Given the description of an element on the screen output the (x, y) to click on. 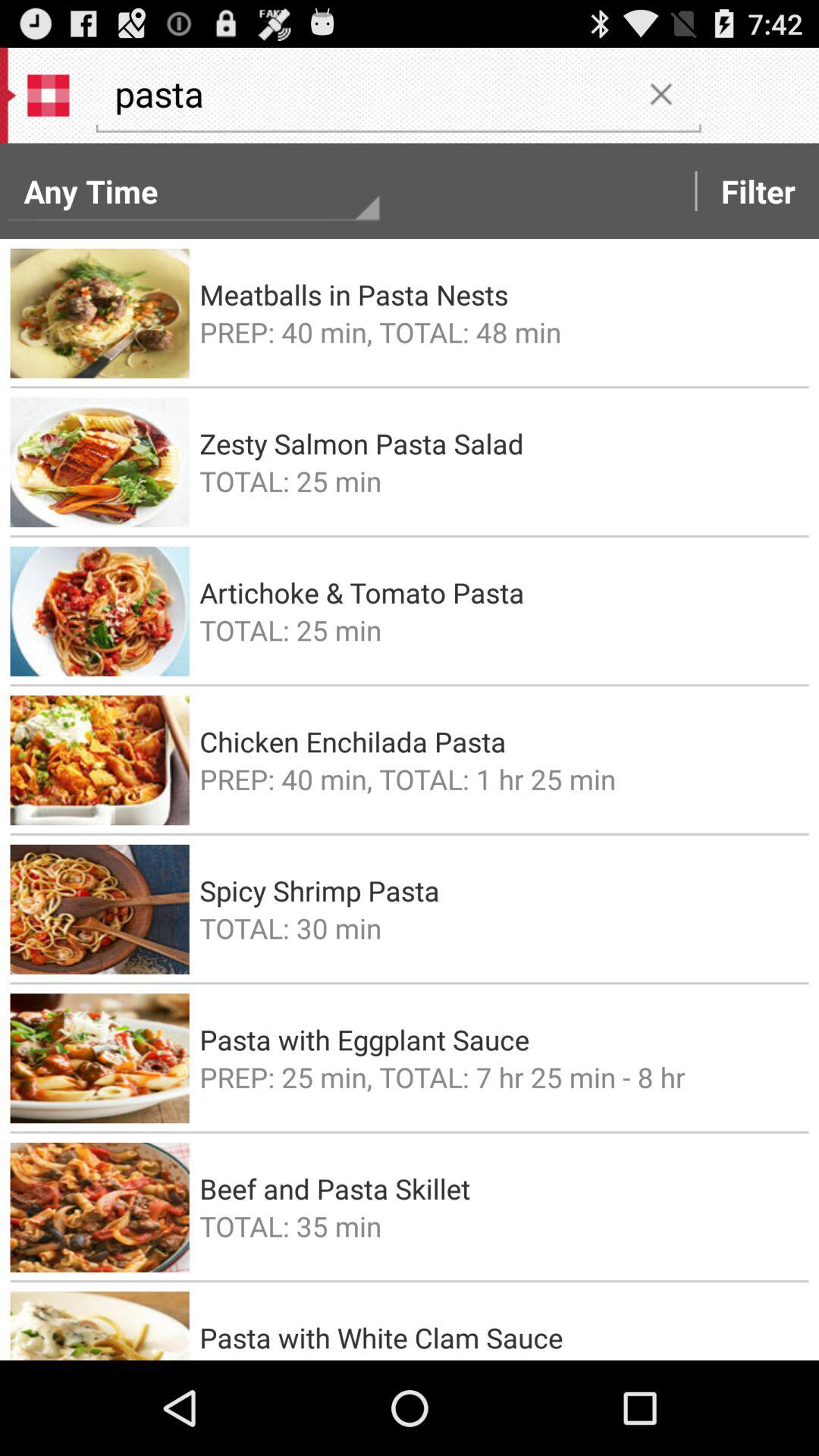
scroll to the meatballs in pasta app (498, 294)
